Given the description of an element on the screen output the (x, y) to click on. 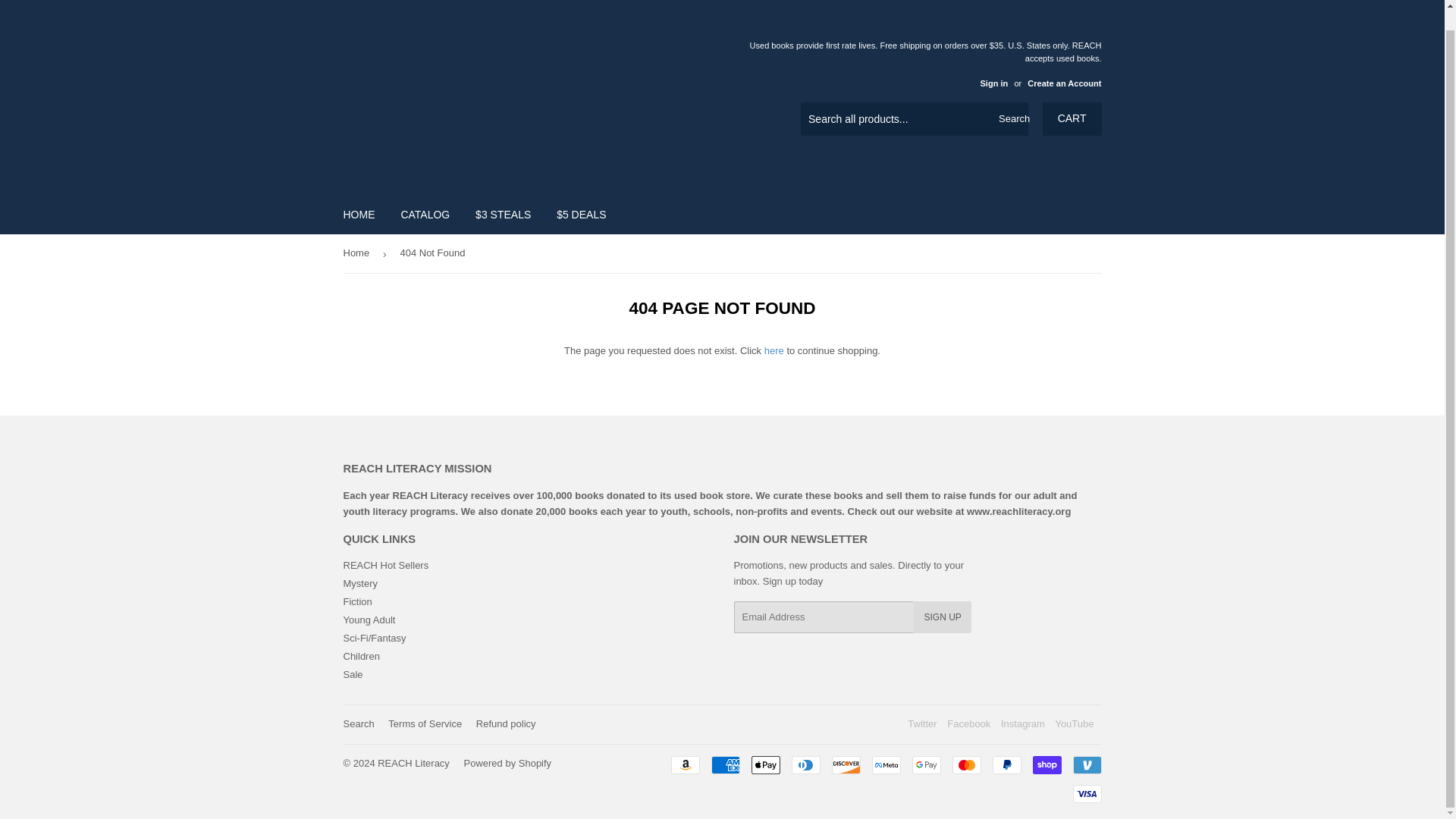
Discover (845, 764)
Apple Pay (764, 764)
Mastercard (966, 764)
Refund policy (505, 723)
Create an Account (1063, 82)
Mystery (359, 583)
HOME (359, 214)
Shop Pay (1046, 764)
Back to the frontpage (358, 253)
CART (1072, 118)
Amazon (683, 764)
Sale (352, 674)
Home (358, 253)
Search (358, 723)
REACH Literacy (413, 763)
